Given the description of an element on the screen output the (x, y) to click on. 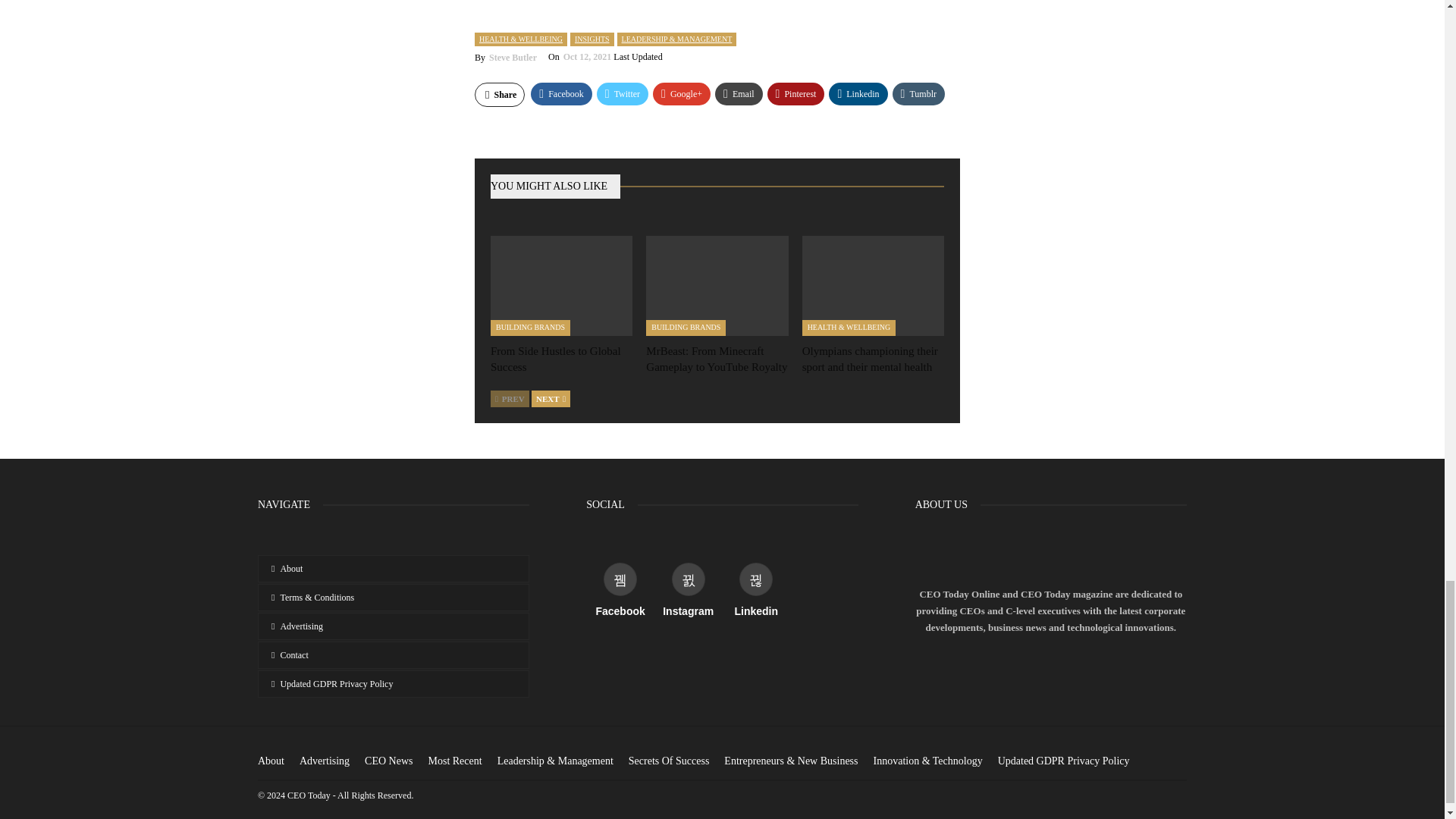
MrBeast: From Minecraft Gameplay to YouTube Royalty (716, 358)
Olympians championing their sport and their mental health (869, 358)
From Side Hustles to Global Success (560, 284)
From Side Hustles to Global Success (555, 358)
Olympians championing their sport and their mental health (872, 284)
Next (550, 398)
Previous (509, 398)
MrBeast: From Minecraft Gameplay to YouTube Royalty (716, 284)
